Given the description of an element on the screen output the (x, y) to click on. 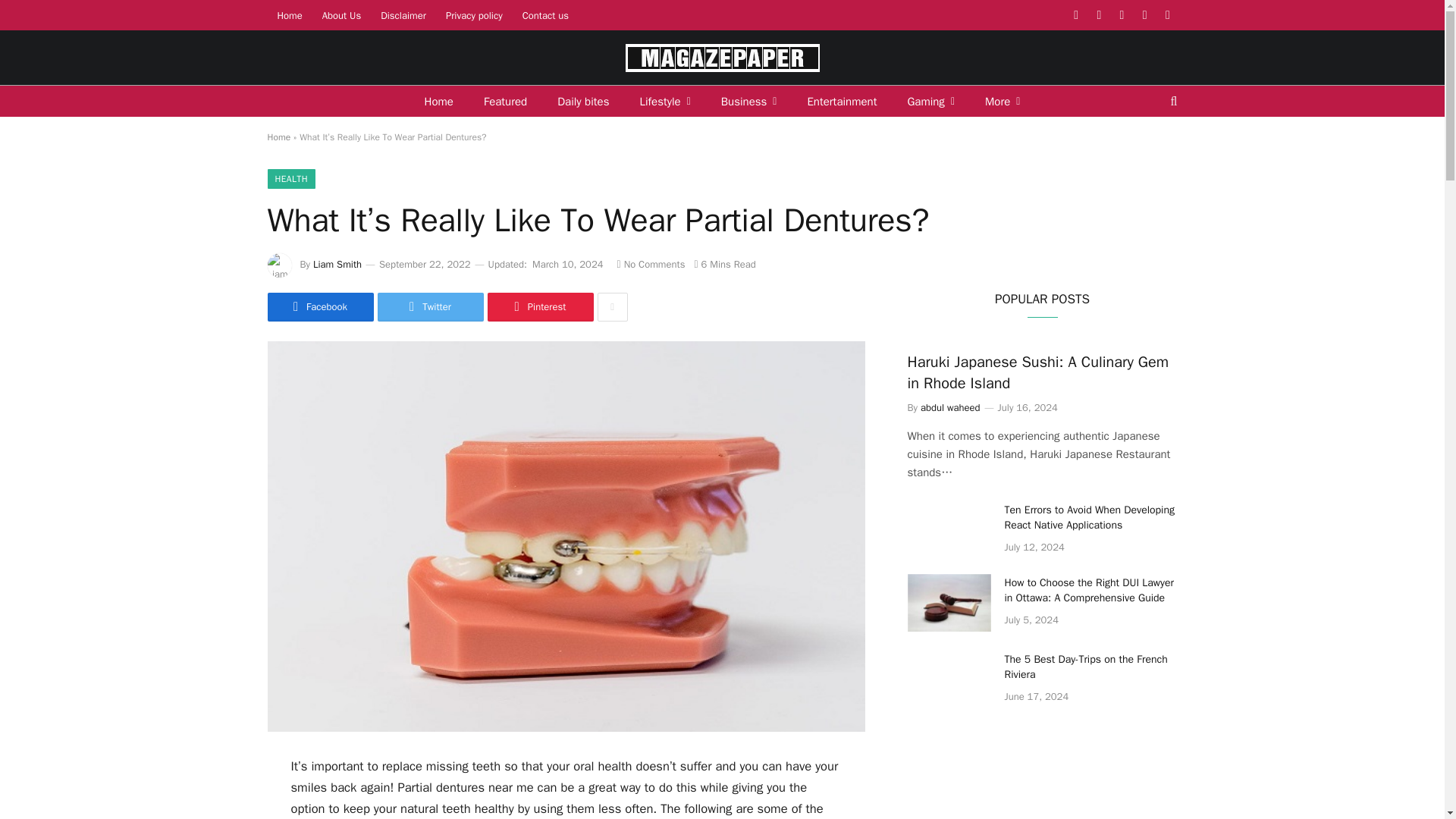
Privacy policy (473, 15)
Home (288, 15)
Disclaimer (403, 15)
Home (438, 101)
Entertainment (841, 101)
Magazepaper (721, 57)
About Us (342, 15)
Gaming (930, 101)
Share on Pinterest (539, 306)
Posts by Liam Smith (337, 264)
More (1002, 101)
Business (749, 101)
Featured (504, 101)
Share on Facebook (319, 306)
Daily bites (582, 101)
